Given the description of an element on the screen output the (x, y) to click on. 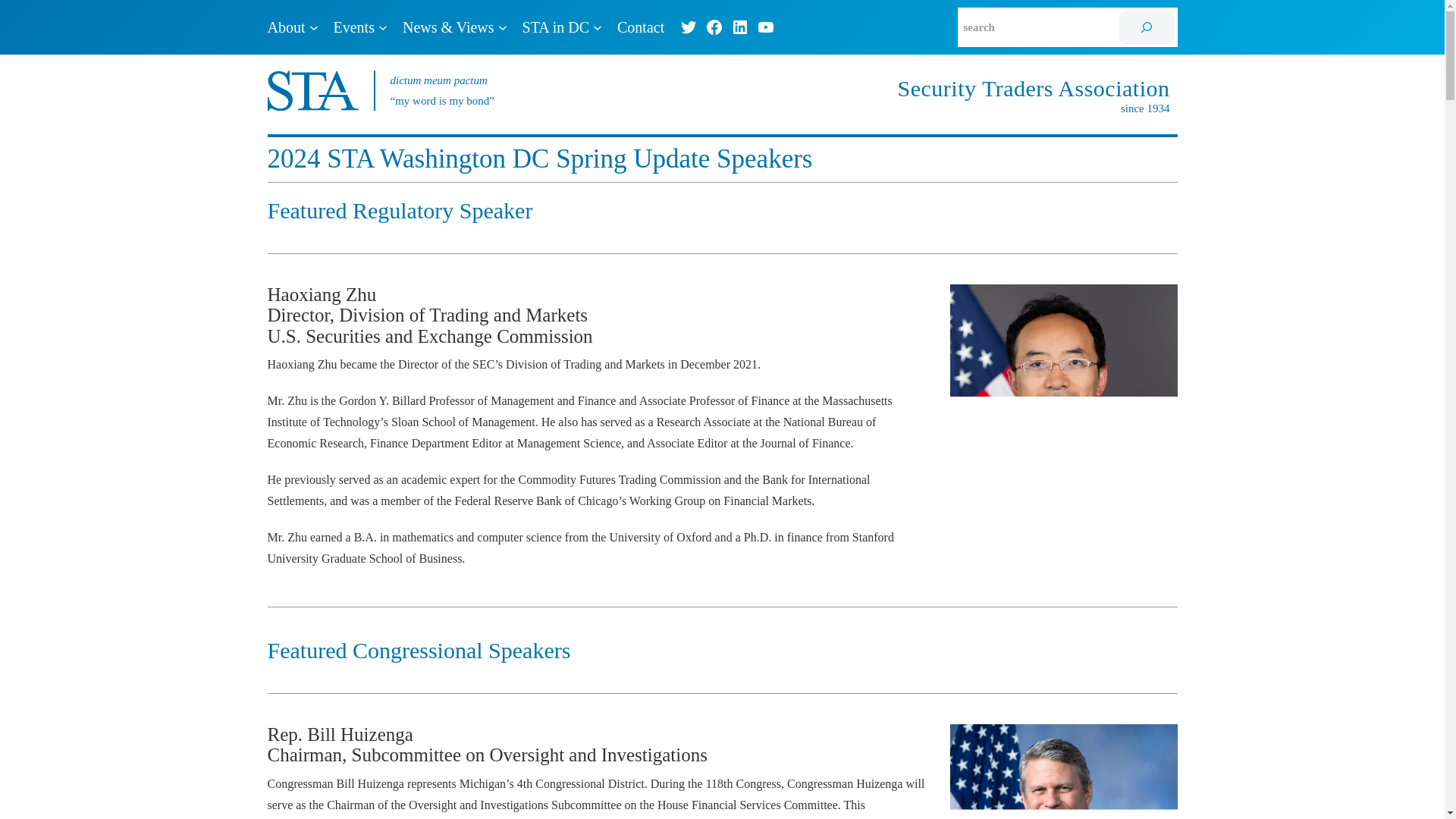
Contact (640, 27)
About (285, 27)
STA in DC (555, 27)
Events (353, 27)
Twitter (688, 27)
Facebook (713, 27)
